Given the description of an element on the screen output the (x, y) to click on. 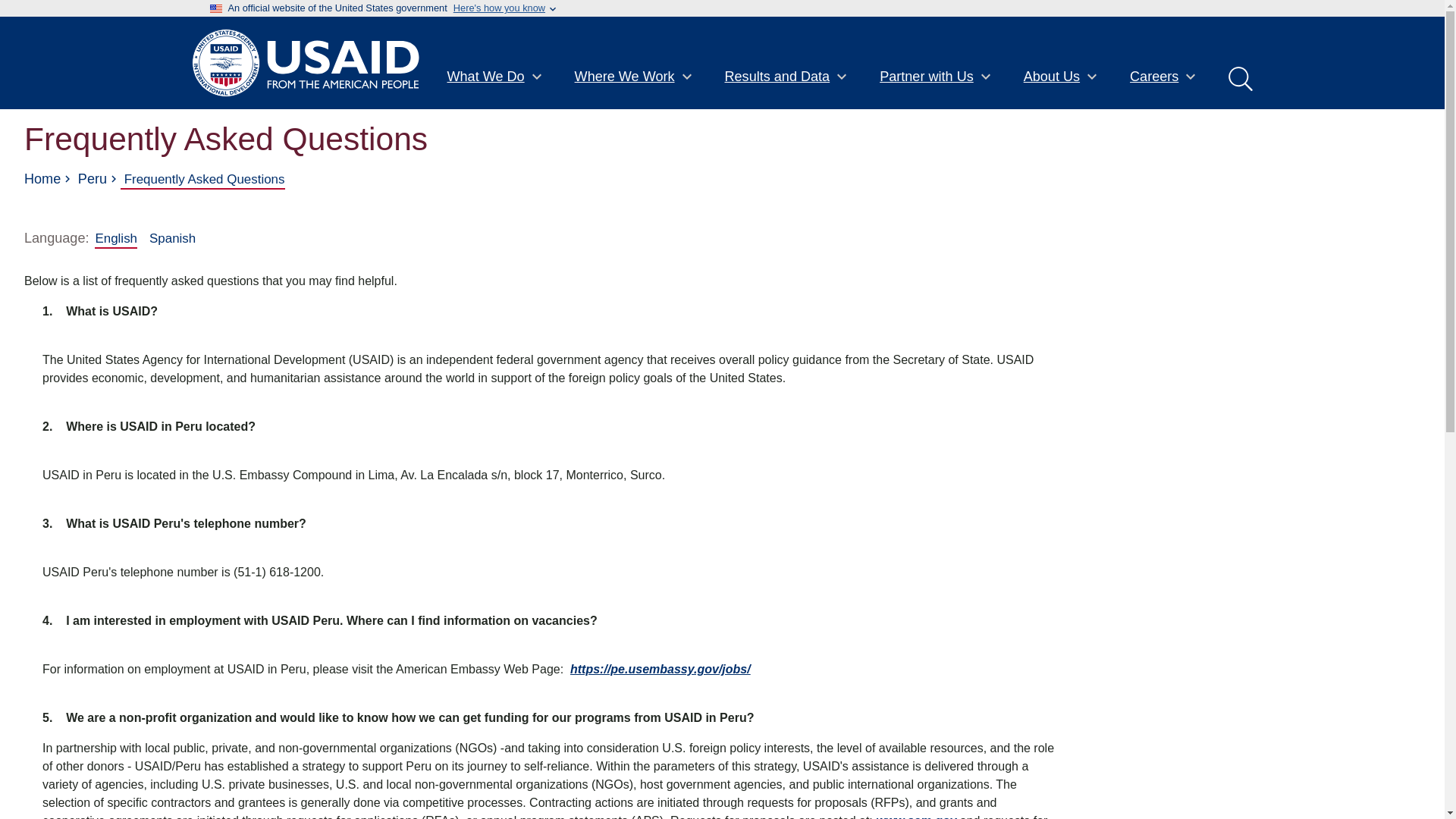
Peru (92, 178)
Careers (1162, 78)
Results and Data (786, 78)
Home (42, 178)
Where We Work (634, 78)
Home (304, 62)
Partner with Us (935, 78)
Spanish (172, 237)
Here's how you know (498, 8)
What We Do (493, 78)
